Given the description of an element on the screen output the (x, y) to click on. 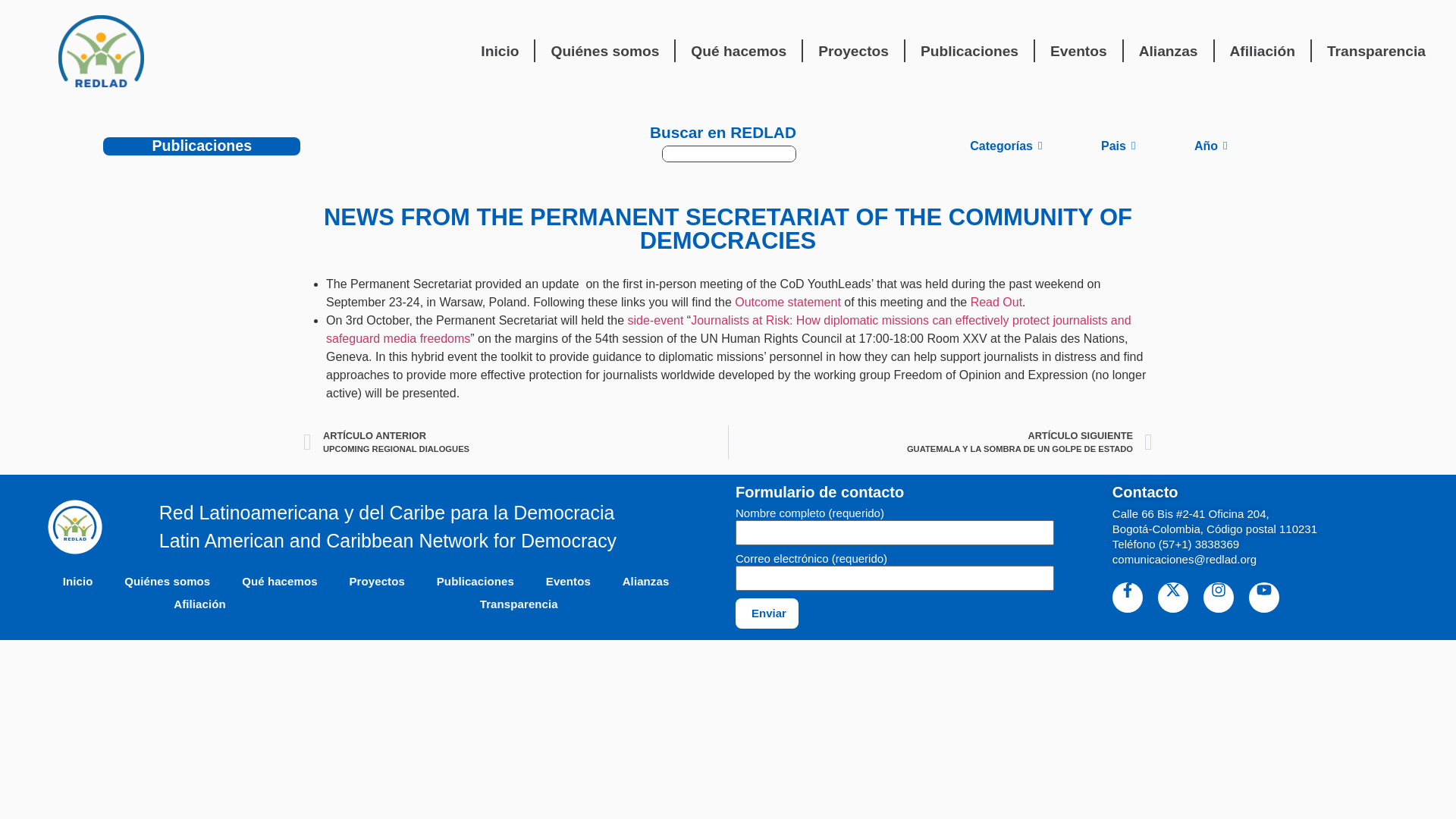
Transparencia (1376, 51)
Publicaciones (969, 51)
Proyectos (853, 51)
Eventos (1078, 51)
Inicio (499, 51)
Alianzas (1168, 51)
